Given the description of an element on the screen output the (x, y) to click on. 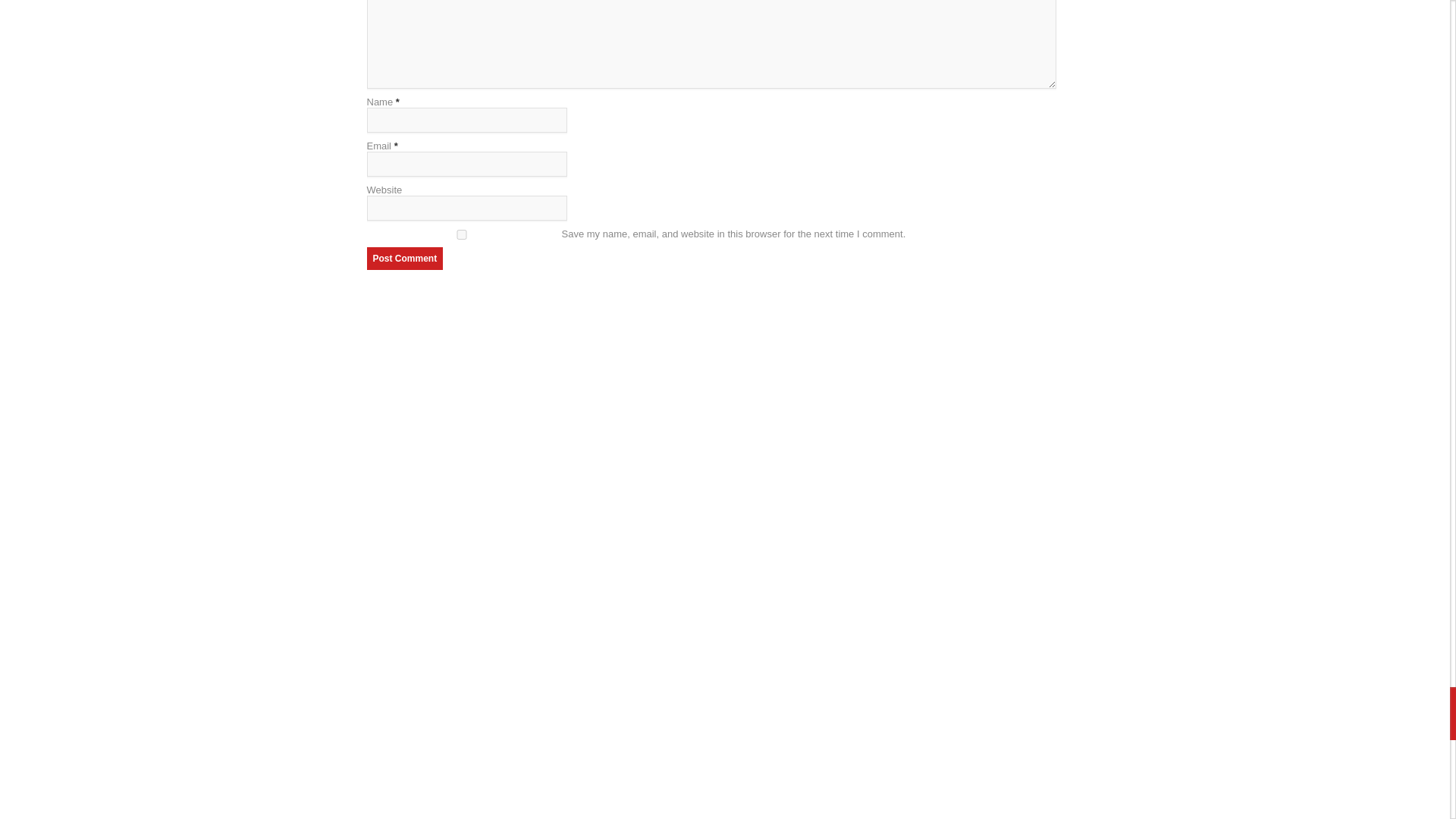
Post Comment (405, 258)
Post Comment (405, 258)
yes (461, 234)
